Given the description of an element on the screen output the (x, y) to click on. 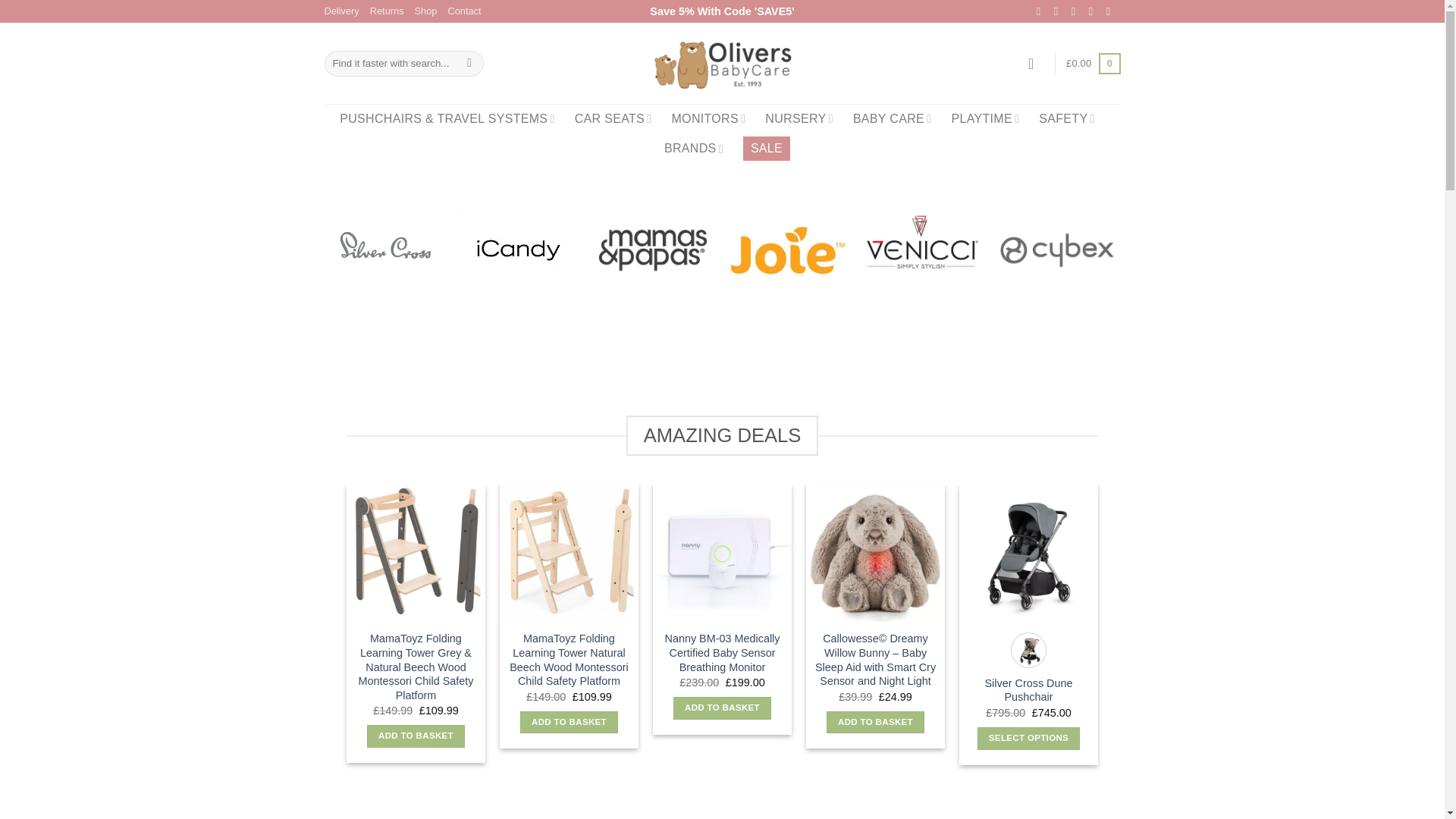
Shop (426, 11)
Contact (463, 11)
Delivery (341, 11)
Basket (1092, 63)
Returns (386, 11)
Search (469, 63)
